Given the description of an element on the screen output the (x, y) to click on. 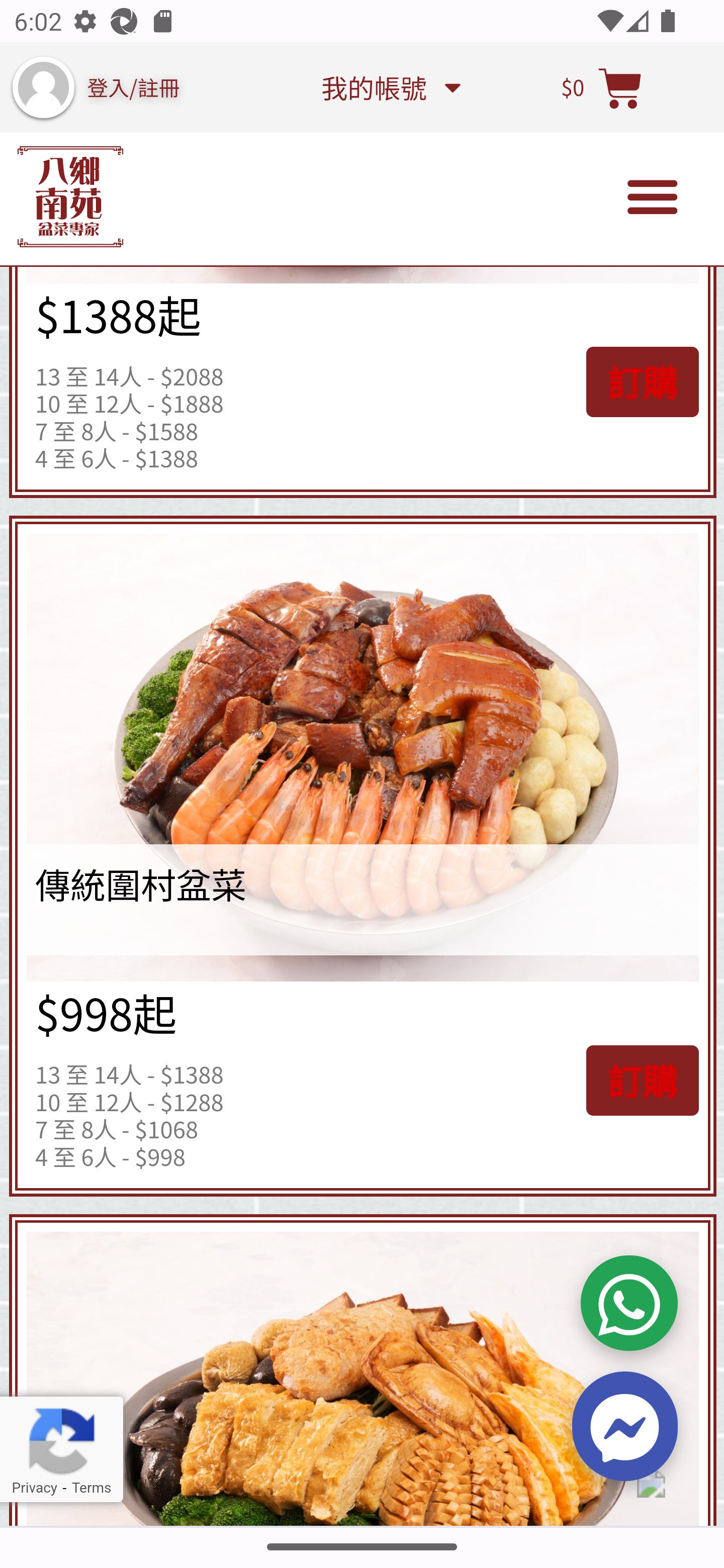
$0  購物籃 $ 0  (601, 87)
我的帳號  我的帳號  (390, 87)
my-account (43, 87)
登入/註冊 (133, 86)
www.poonchoi (70, 197)
選單切換 (652, 197)
訂購 (642, 382)
訂購 (642, 1080)
